Given the description of an element on the screen output the (x, y) to click on. 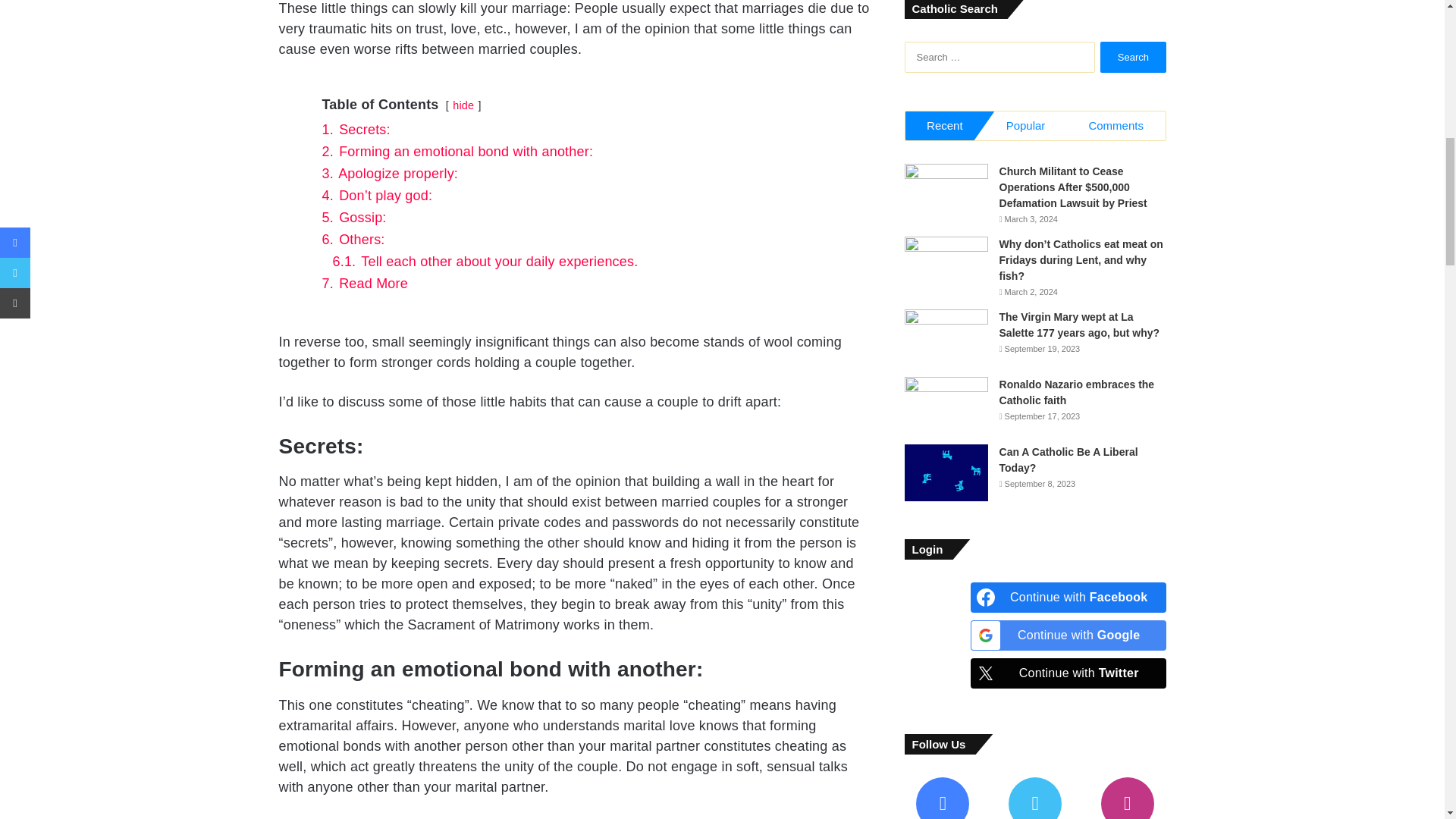
Search (1133, 56)
hide (463, 105)
3. Apologize properly: (389, 173)
1. Secrets: (355, 129)
2. Forming an emotional bond with another: (456, 151)
Search (1133, 56)
